Given the description of an element on the screen output the (x, y) to click on. 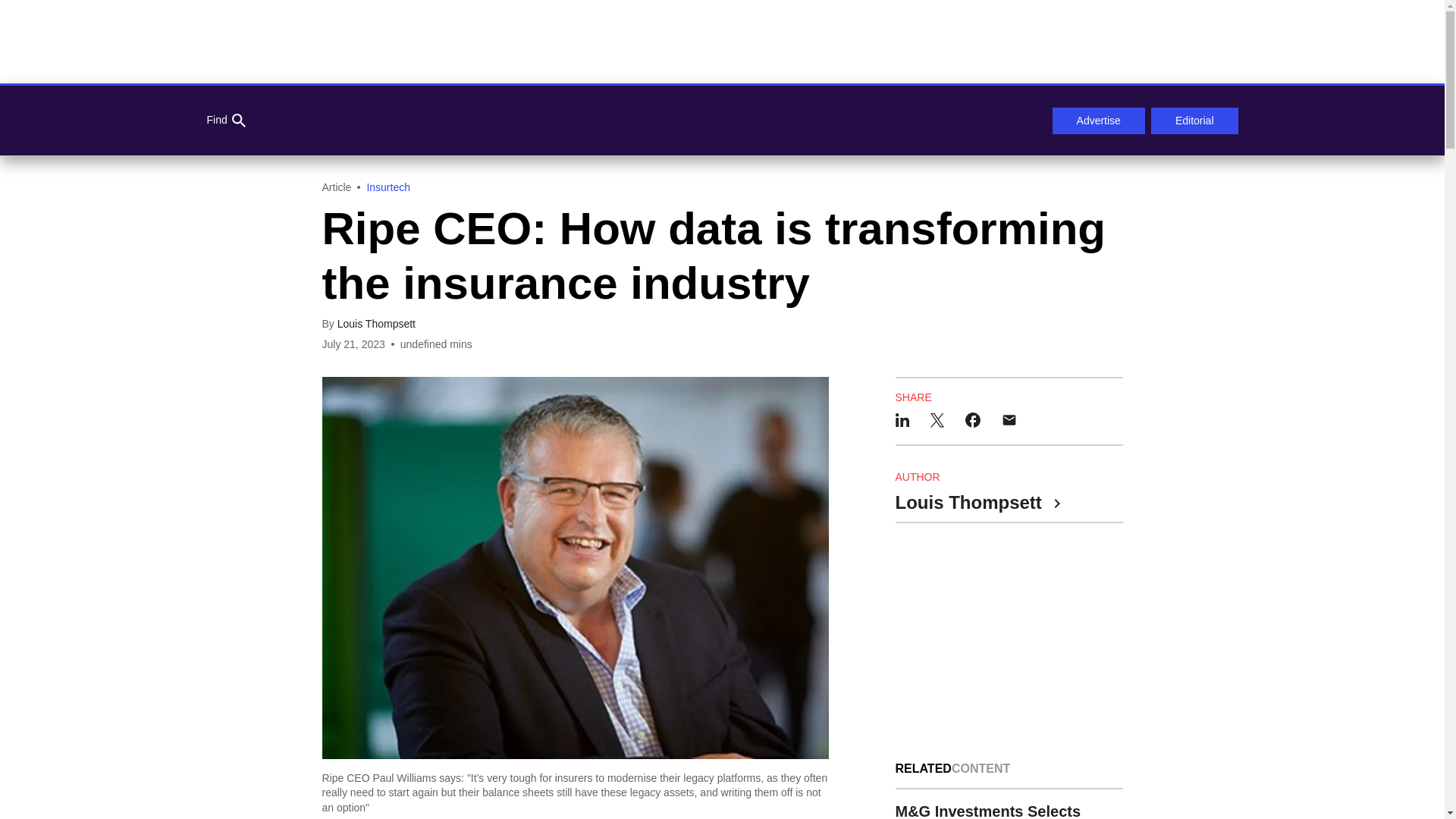
Find (225, 120)
Louis Thompsett (375, 323)
Advertise (1098, 121)
Louis Thompsett (977, 503)
Editorial (1195, 121)
